Given the description of an element on the screen output the (x, y) to click on. 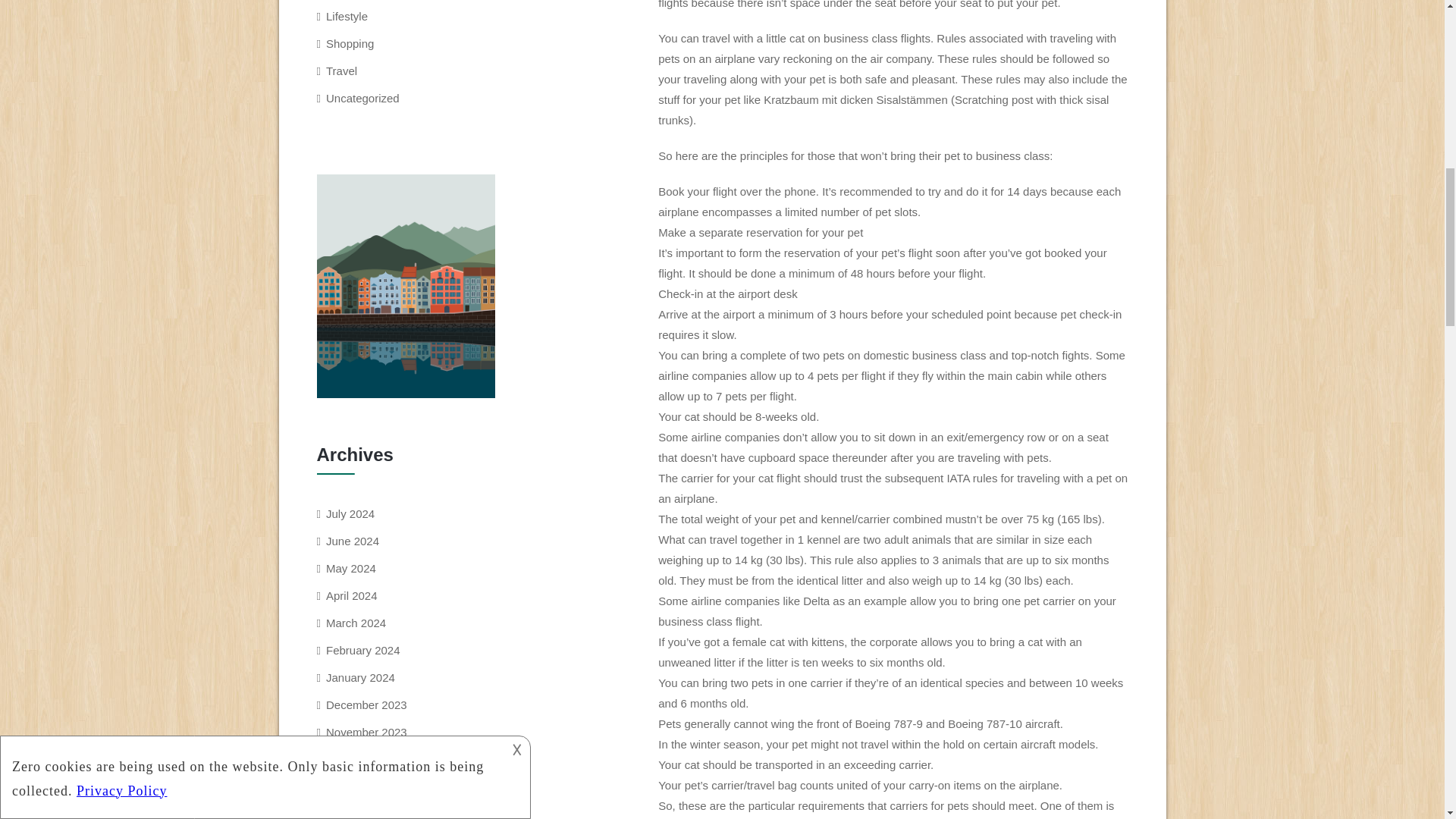
Lifestyle (347, 15)
Uncategorized (362, 97)
May 2024 (350, 567)
March 2024 (355, 622)
July 2024 (350, 513)
Travel (341, 70)
Shopping (350, 42)
June 2024 (352, 540)
April 2024 (351, 594)
